Given the description of an element on the screen output the (x, y) to click on. 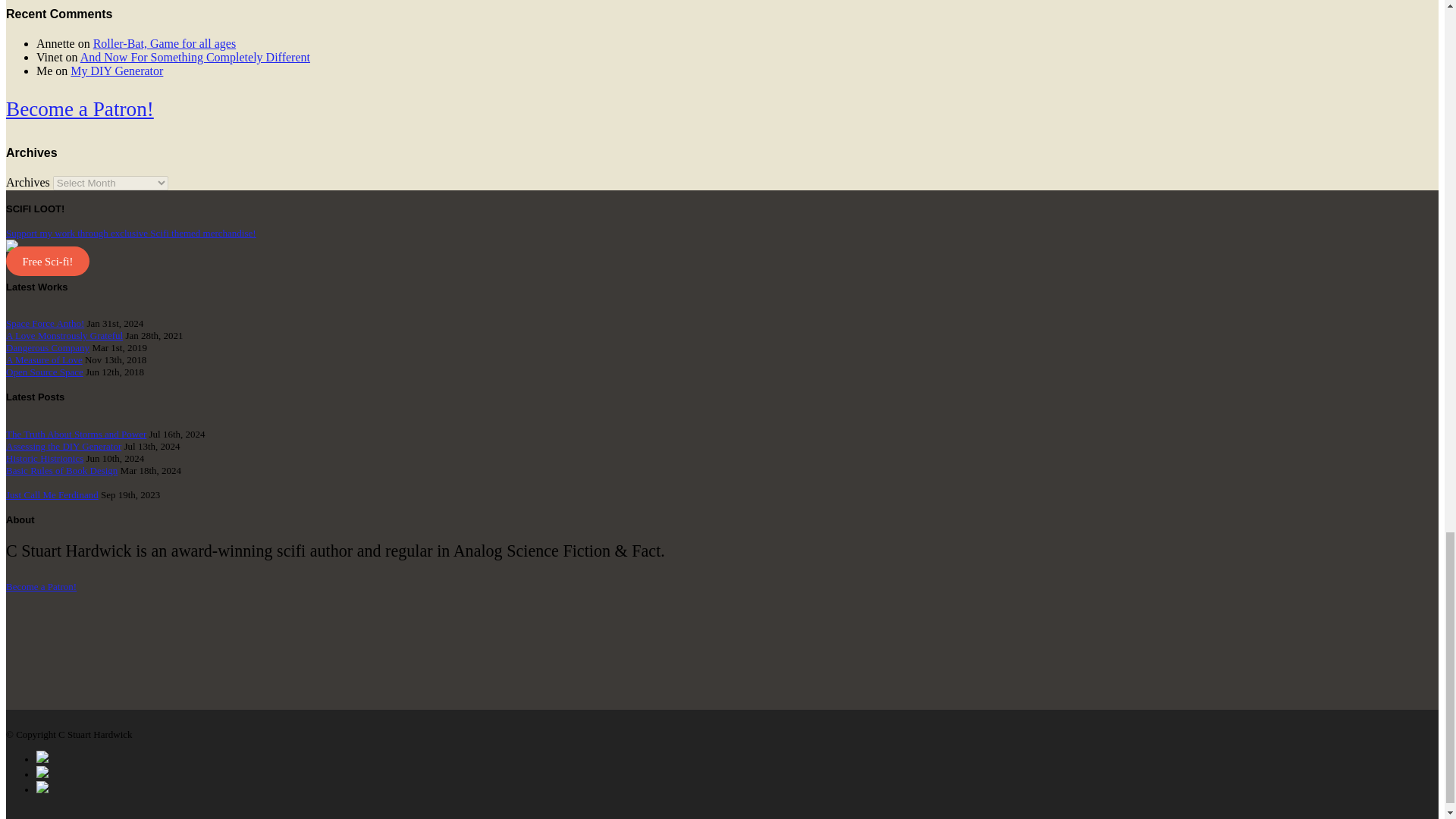
Basic Rules of Book Design (61, 470)
Roller-Bat, Game for all ages (164, 42)
Support my work through exclusive Scifi themed merchandise! (130, 240)
Space Force Antho! (44, 323)
Dangerous Company (46, 347)
Historic Histrionics (43, 458)
A Measure of Love (43, 359)
Become a Patron! (79, 108)
A Love Monstrously Grateful (63, 335)
And Now For Something Completely Different (195, 56)
Assessing the DIY Generator (62, 446)
The Truth About Storms and Power (76, 433)
Free Sci-fi! (46, 261)
Open Source Space (43, 371)
My DIY Generator (116, 70)
